Given the description of an element on the screen output the (x, y) to click on. 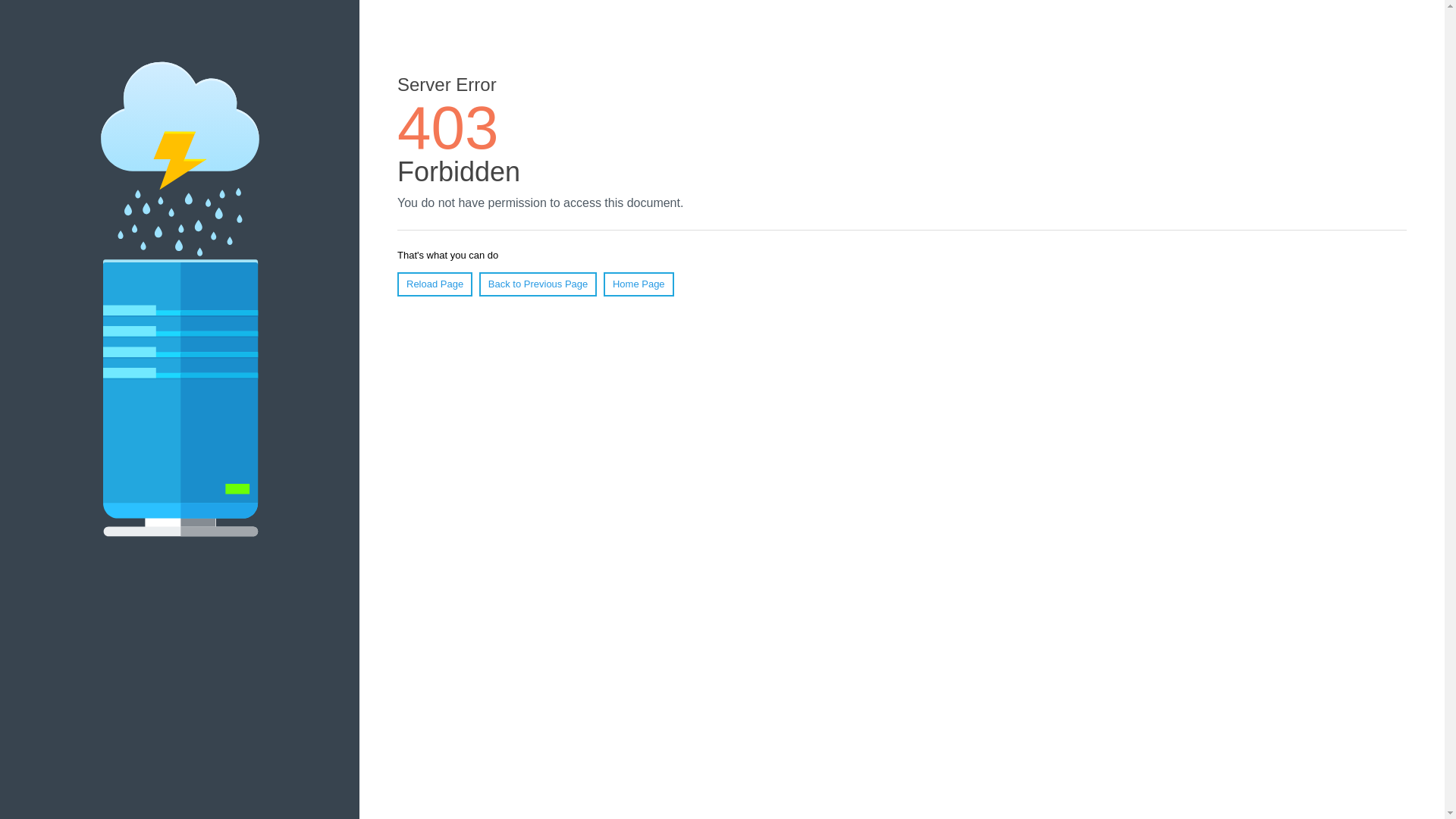
Back to Previous Page (537, 283)
Home Page (639, 283)
Reload Page (434, 283)
